Given the description of an element on the screen output the (x, y) to click on. 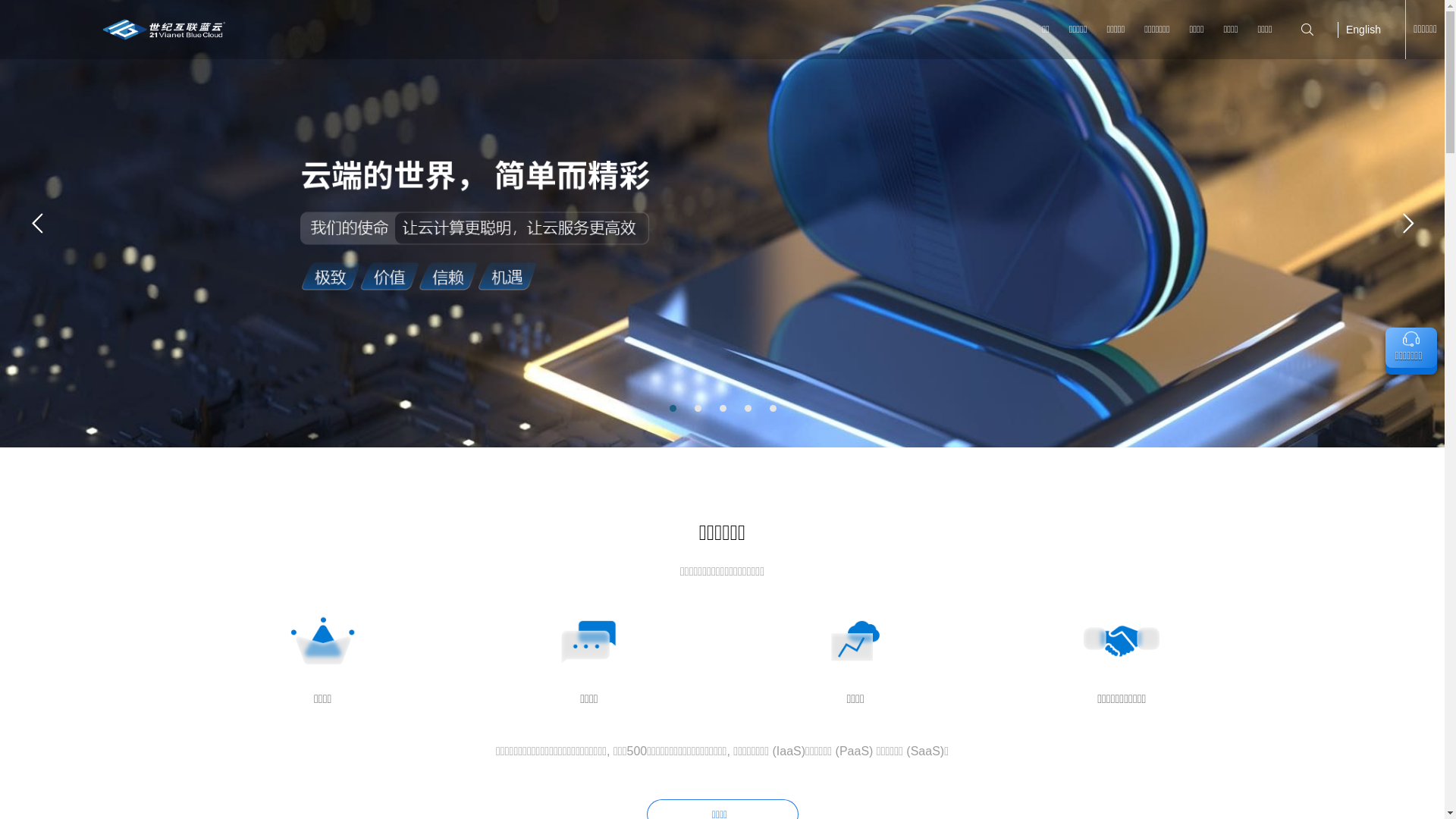
English Element type: text (1363, 28)
